Given the description of an element on the screen output the (x, y) to click on. 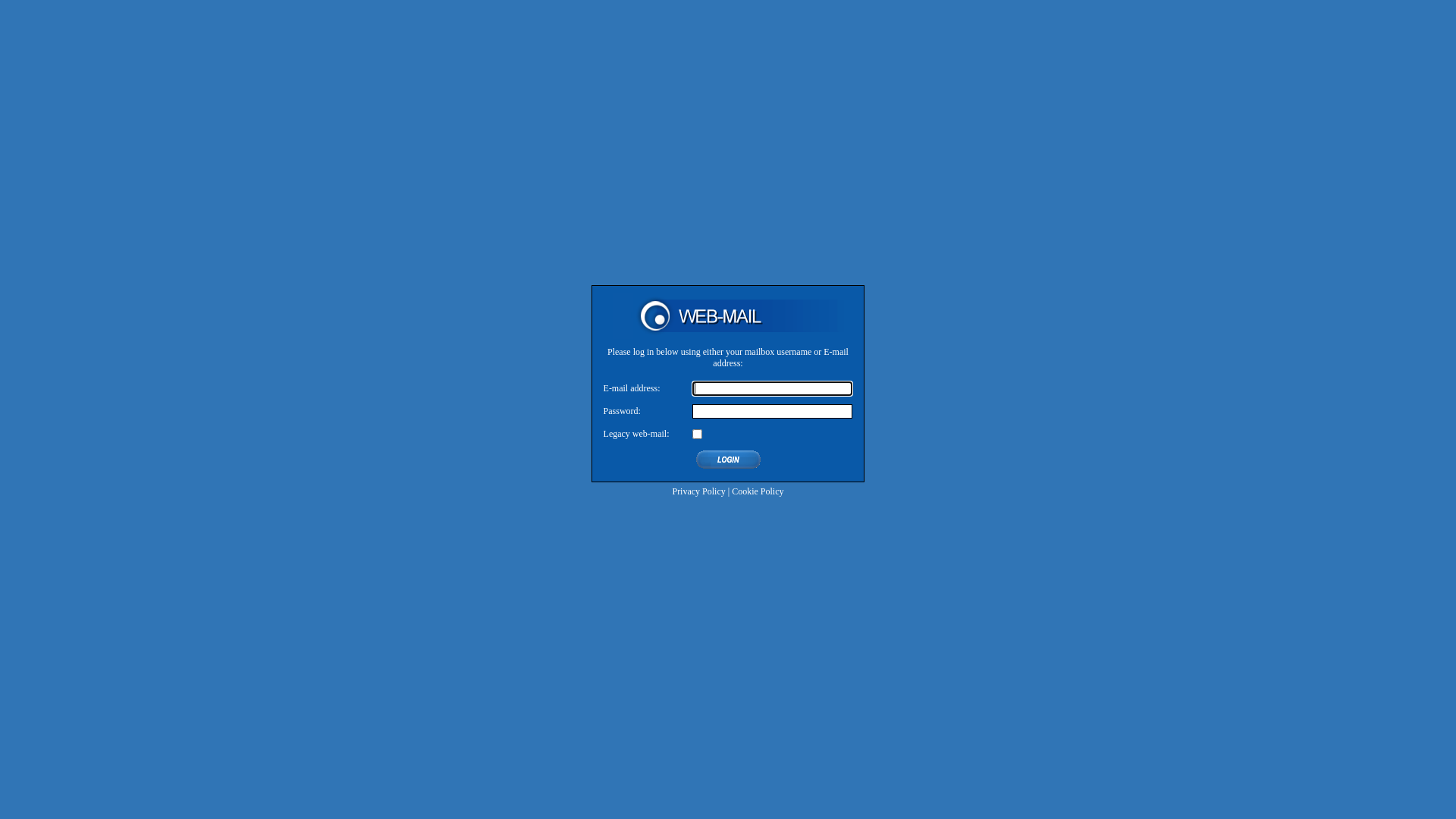
on Element type: text (697, 434)
Cookie Policy Element type: text (757, 489)
Privacy Policy Element type: text (697, 489)
